Given the description of an element on the screen output the (x, y) to click on. 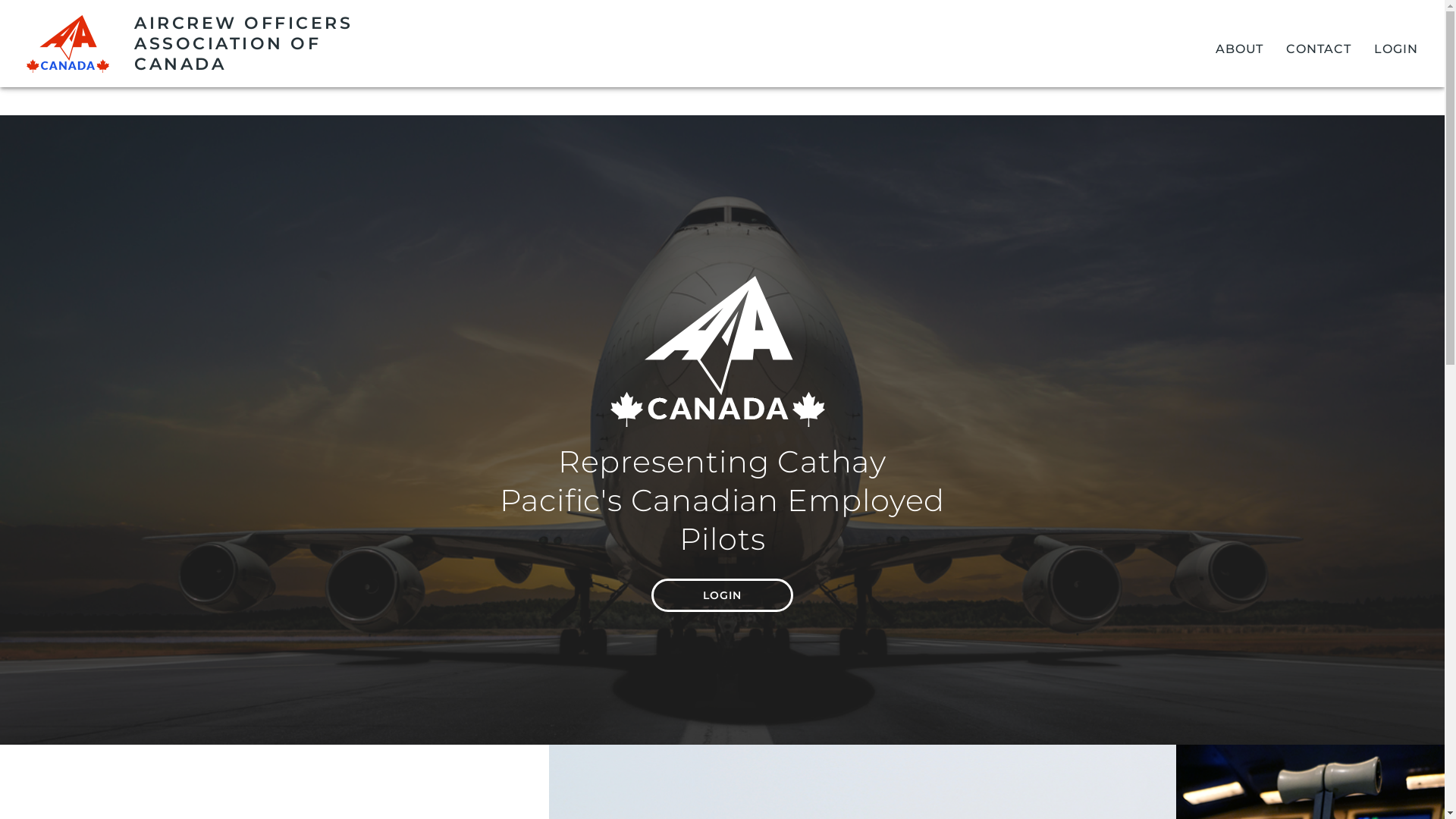
Previous Element type: text (1419, 621)
Next Element type: text (1419, 589)
4 Element type: text (742, 762)
CONTACT Element type: text (1318, 48)
1 Element type: text (701, 762)
LOGIN Element type: text (1396, 48)
LOGIN Element type: text (722, 594)
2 Element type: text (715, 762)
ABOUT Element type: text (1239, 48)
3 Element type: text (729, 762)
